Given the description of an element on the screen output the (x, y) to click on. 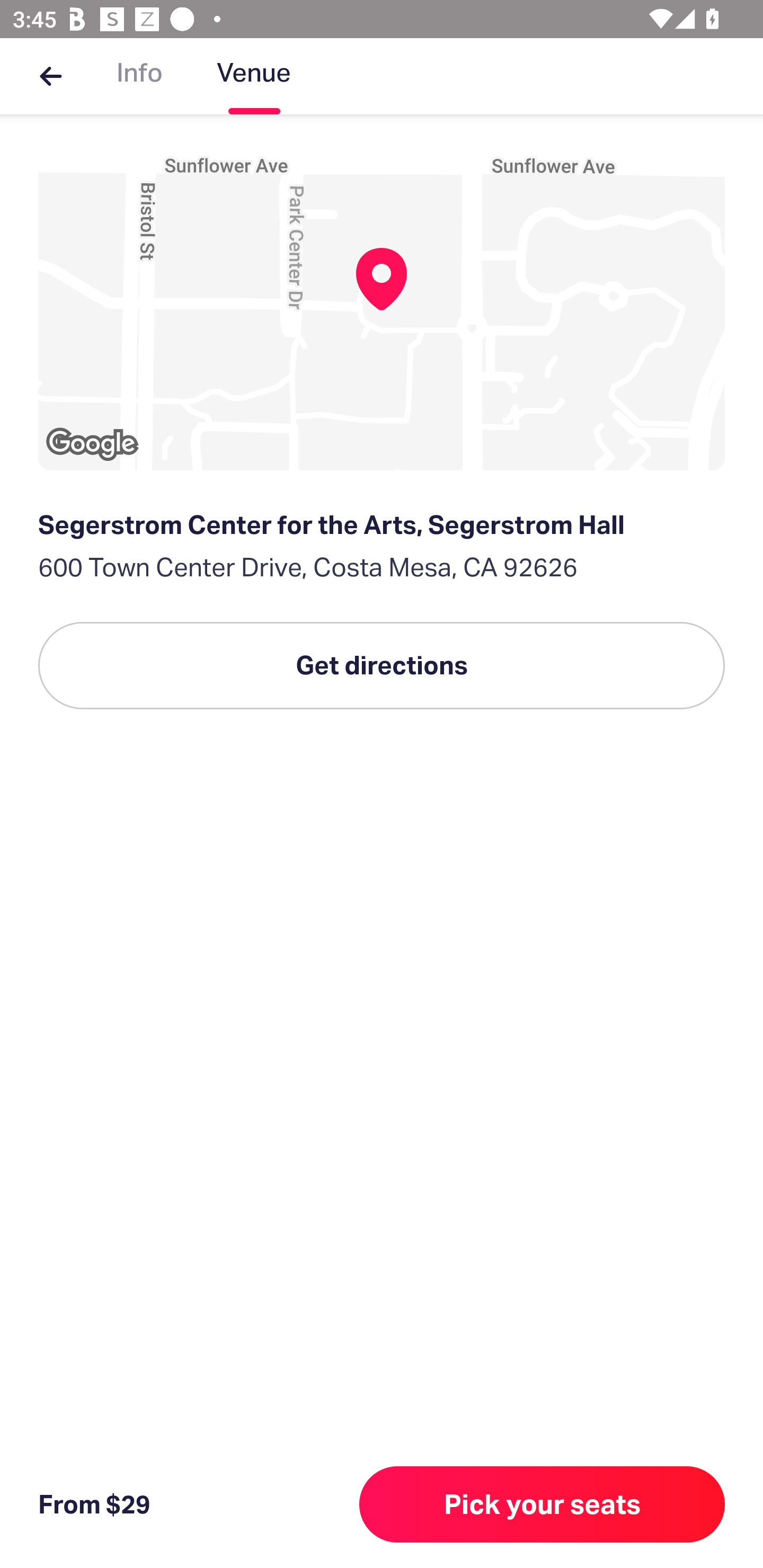
Info (139, 75)
Get directions (381, 665)
Pick your seats (541, 1504)
